Given the description of an element on the screen output the (x, y) to click on. 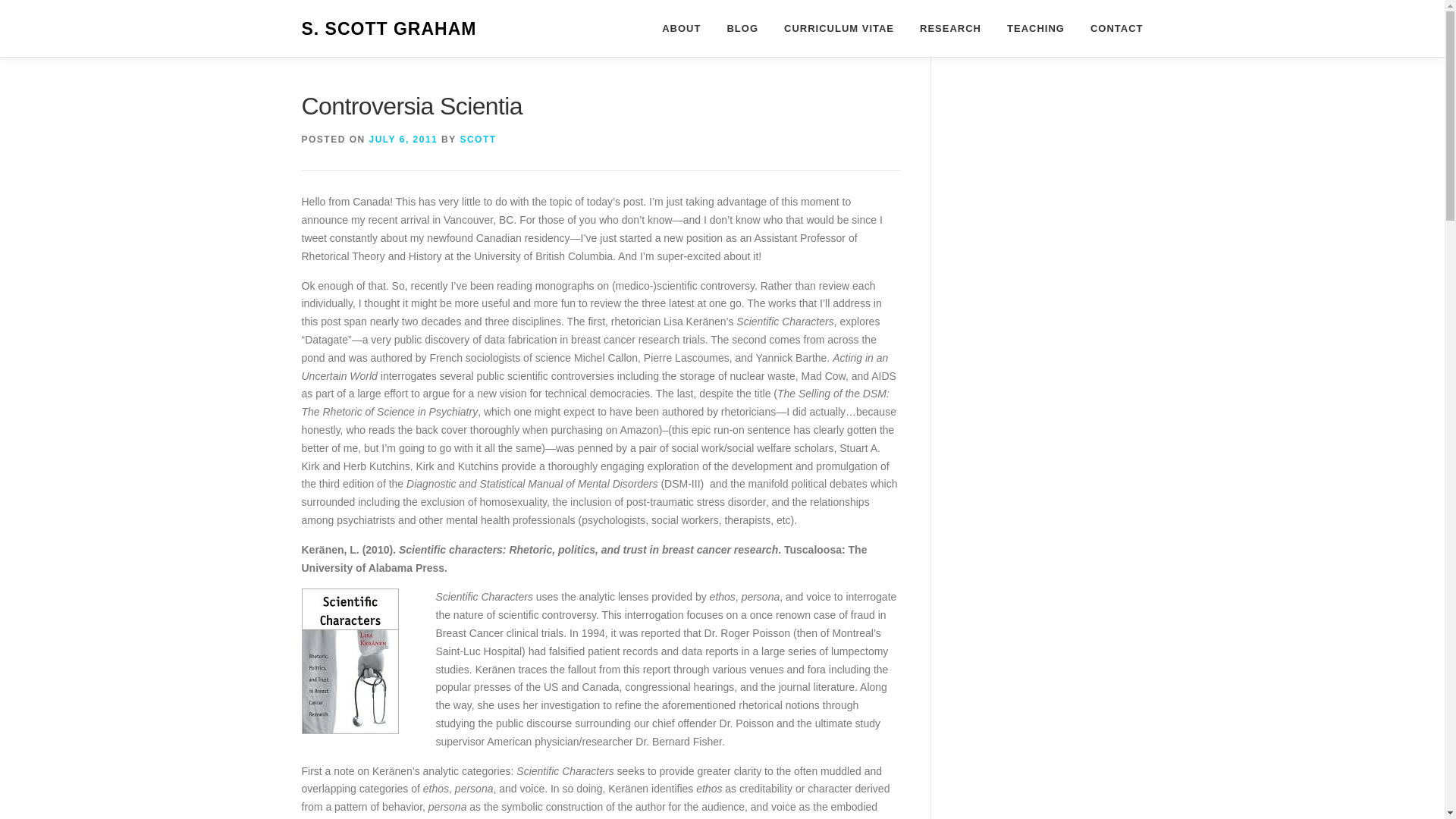
RESEARCH (950, 28)
S. SCOTT GRAHAM (389, 29)
JULY 6, 2011 (403, 139)
ABOUT (681, 28)
CONTACT (1109, 28)
TEACHING (1035, 28)
CURRICULUM VITAE (839, 28)
BLOG (742, 28)
SCOTT (478, 139)
